Given the description of an element on the screen output the (x, y) to click on. 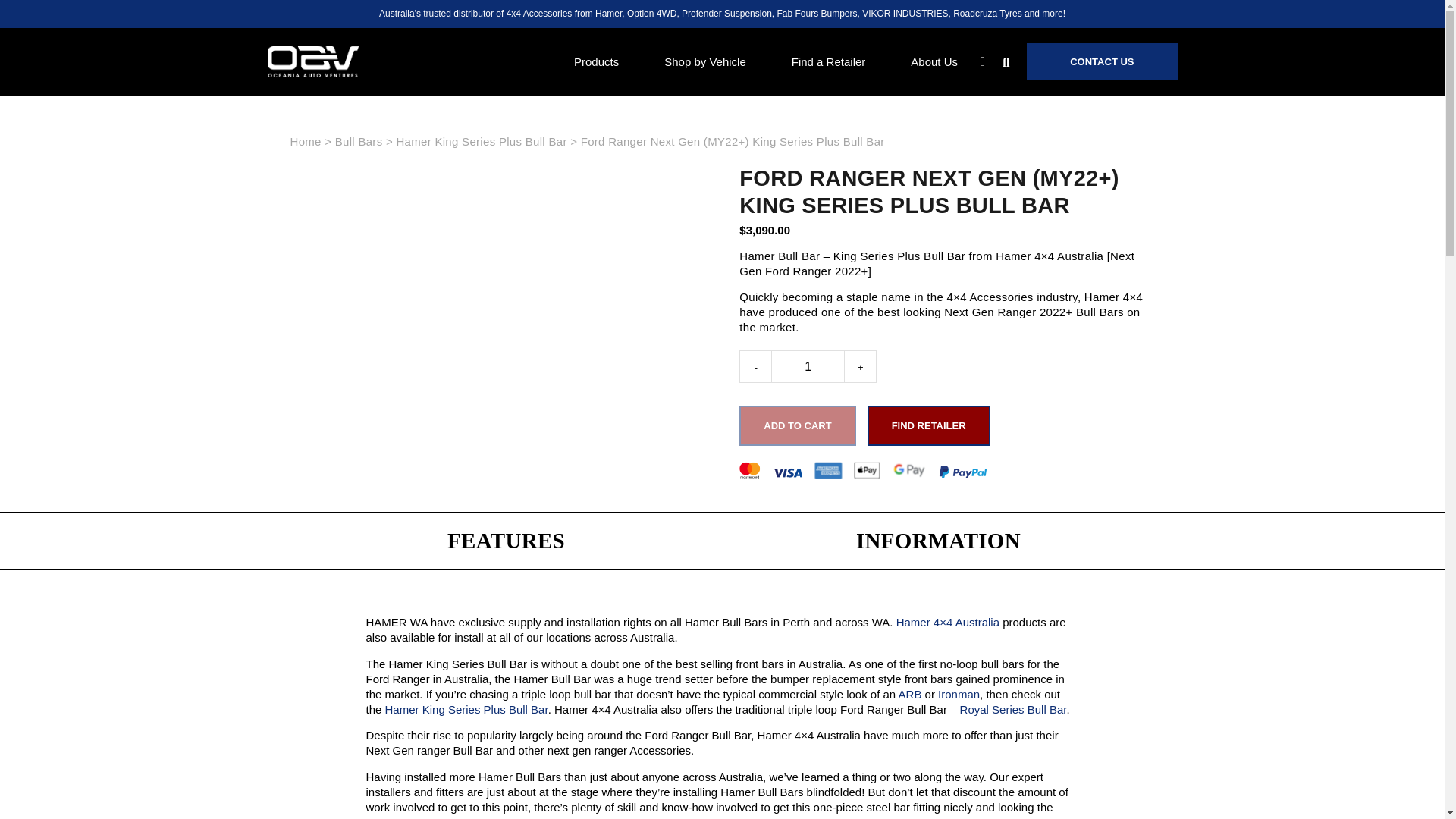
Shop by Vehicle (705, 61)
CONTACT US (1101, 61)
- (755, 366)
INFORMATION (938, 540)
Products (596, 61)
About Us (933, 61)
Qty (807, 366)
Hamer King Series Plus Bull Bar (466, 708)
Ironman (958, 694)
FEATURES (505, 540)
Hamer King Series Plus Bull Bar (481, 141)
ARB (909, 694)
Find a Retailer (828, 61)
ADD TO CART (797, 425)
Home (304, 141)
